Given the description of an element on the screen output the (x, y) to click on. 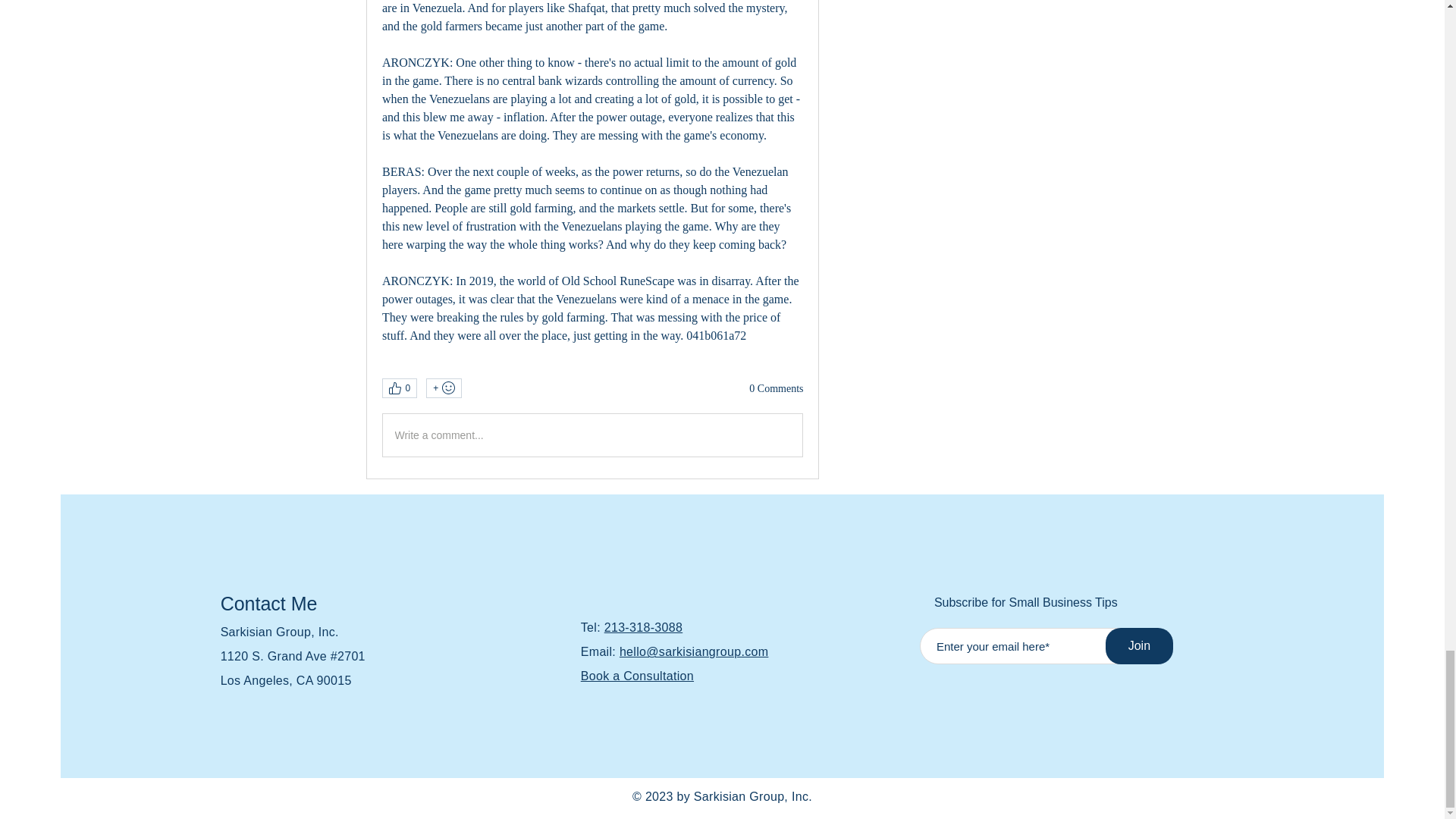
0 Comments (776, 388)
213-318-3088 (643, 626)
Write a comment... (591, 435)
